Given the description of an element on the screen output the (x, y) to click on. 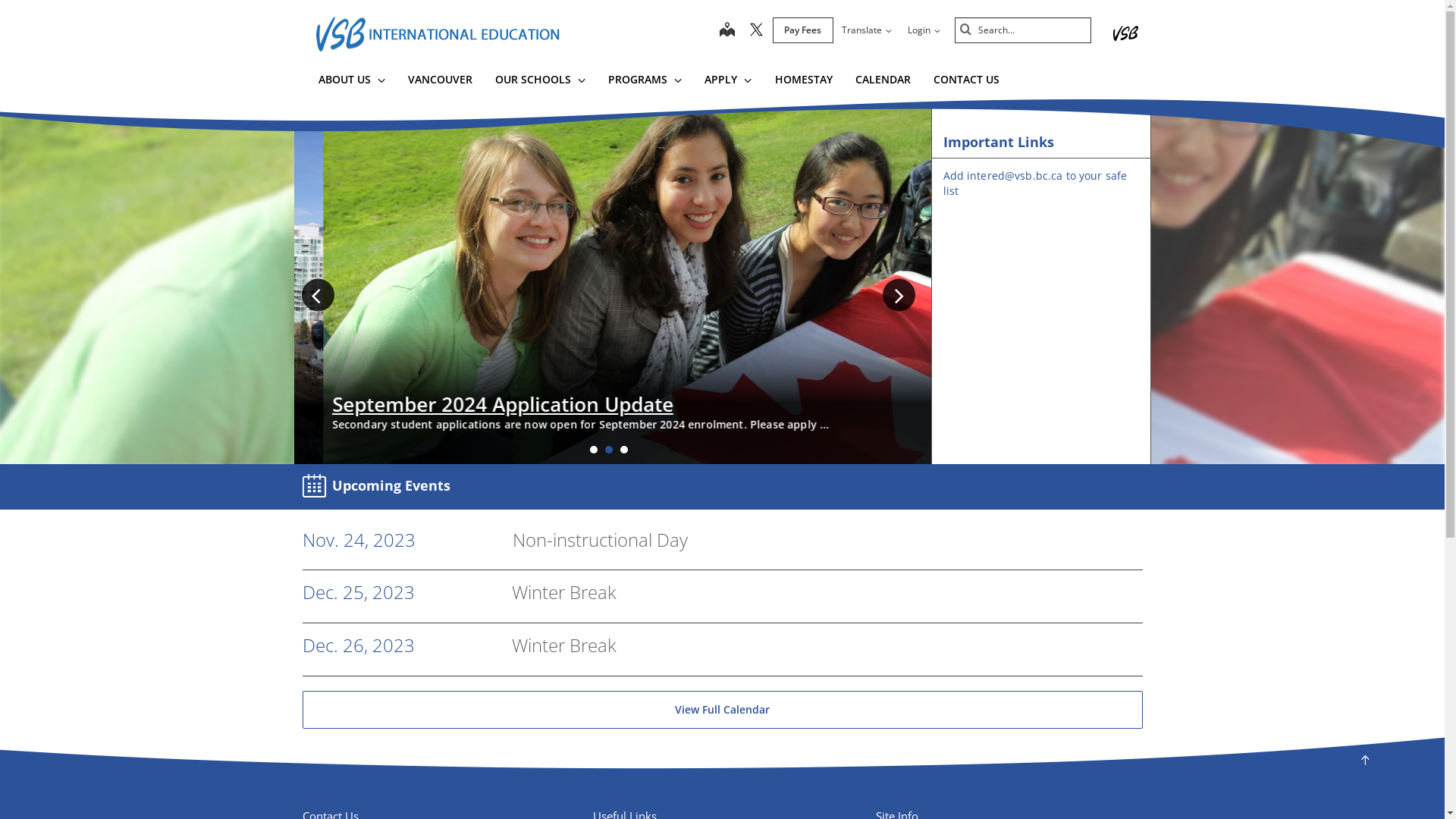
PROGRAMS Element type: text (644, 81)
ABOUT US Element type: text (350, 81)
Dec. 26, 2023 Element type: text (357, 645)
Winter Break Element type: text (563, 644)
VANCOUVER Element type: text (439, 81)
CALENDAR Element type: text (882, 81)
Translate Element type: text (865, 30)
HOMESTAY Element type: text (803, 81)
CONTACT US Element type: text (966, 81)
Add intered@vsb.bc.ca to your safe list Element type: text (1035, 182)
Non-instructional Day Element type: text (599, 539)
Go to top Element type: text (1364, 759)
Upcoming Events Element type: text (379, 486)
Winter Break Element type: text (563, 591)
View Full Calendar Element type: text (721, 709)
Dec. 25, 2023 Element type: text (357, 592)
map Element type: text (726, 29)
3 Element type: text (623, 449)
OUR SCHOOLS Element type: text (539, 81)
Login Element type: text (923, 30)
APPLY Element type: text (727, 81)
Submit Element type: text (965, 29)
1 Element type: text (593, 449)
2 Element type: text (608, 449)
Nov. 24, 2023 Element type: text (357, 540)
Welcome Element type: text (347, 403)
Pay Fees Element type: text (801, 30)
